Given the description of an element on the screen output the (x, y) to click on. 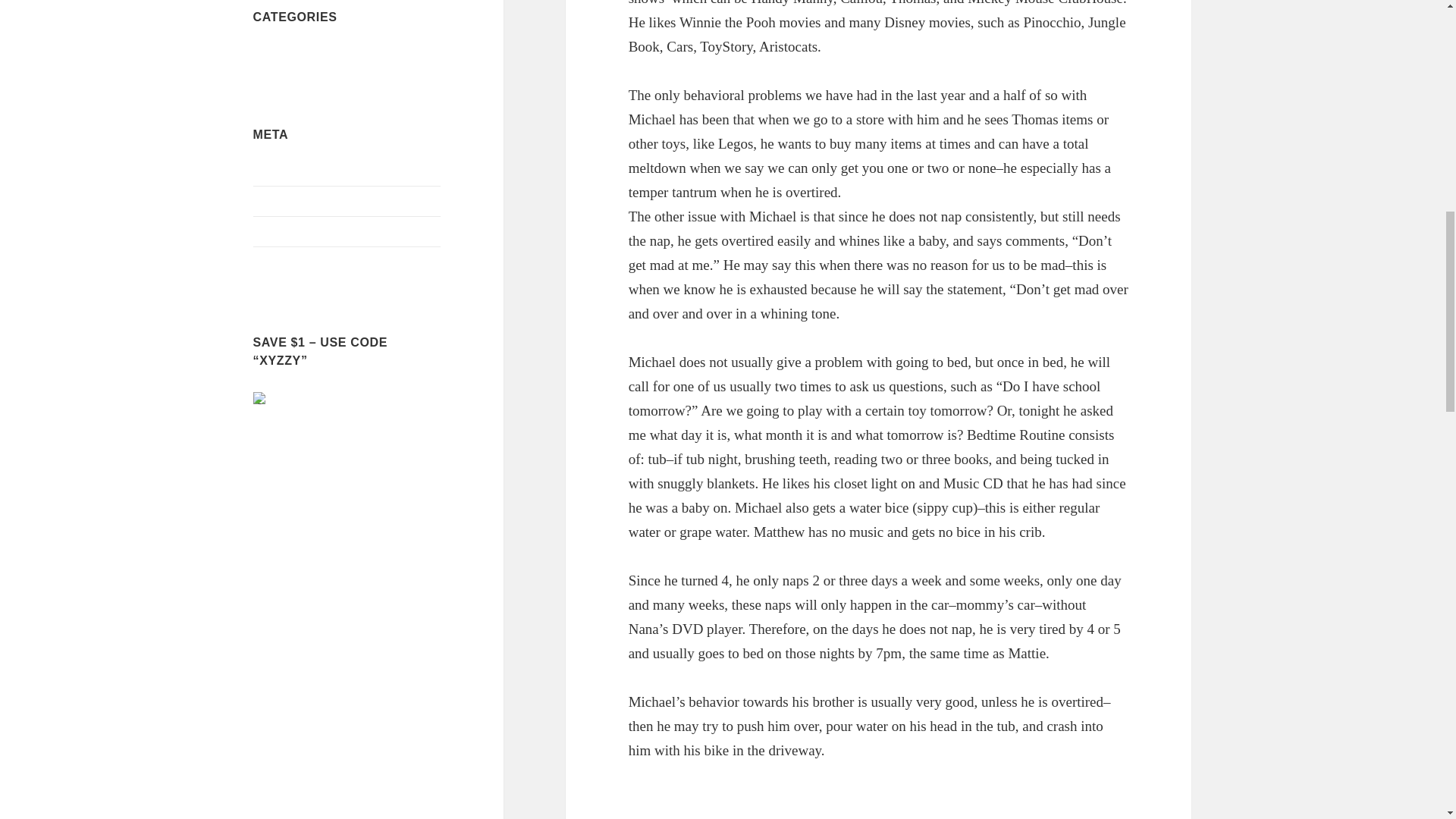
Really Simple Syndication (319, 232)
Really Simple Syndication (300, 201)
Log in (269, 170)
Comments RSS (291, 232)
Uncategorized (288, 52)
WordPress.org (288, 261)
Entries RSS (283, 201)
